Given the description of an element on the screen output the (x, y) to click on. 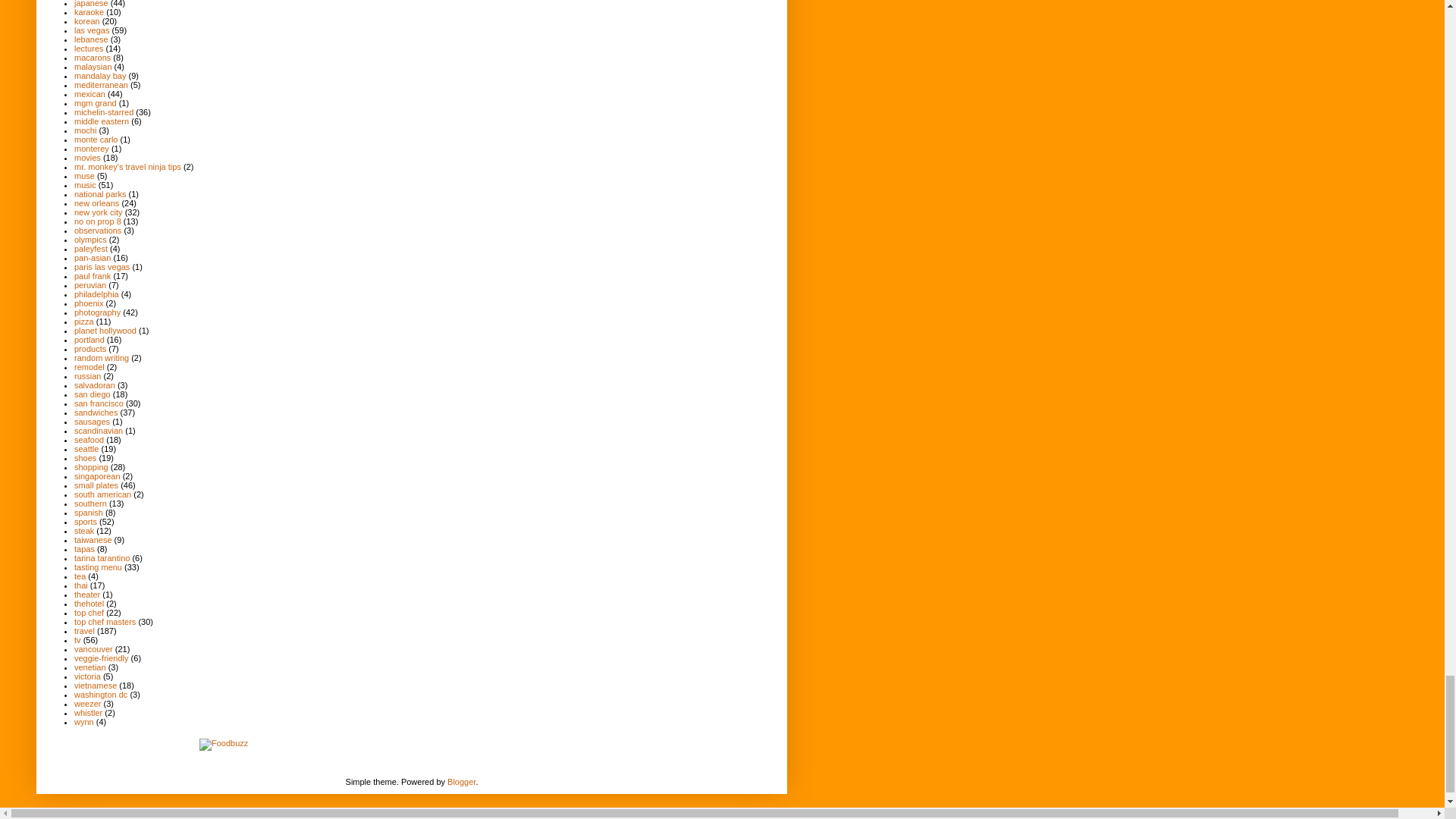
Foodbuzz (223, 744)
